Given the description of an element on the screen output the (x, y) to click on. 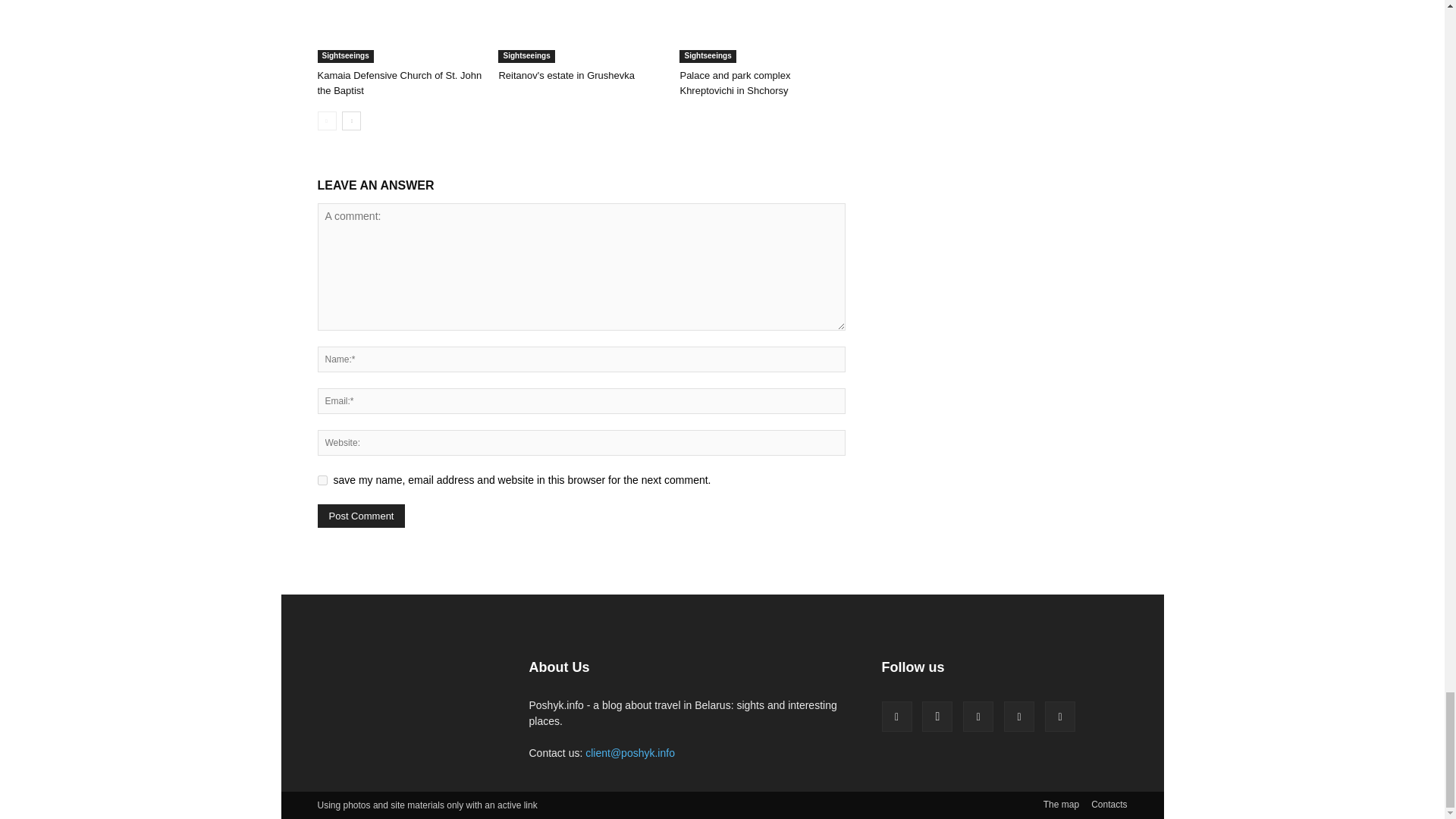
Post Comment (360, 515)
yes (321, 480)
